Given the description of an element on the screen output the (x, y) to click on. 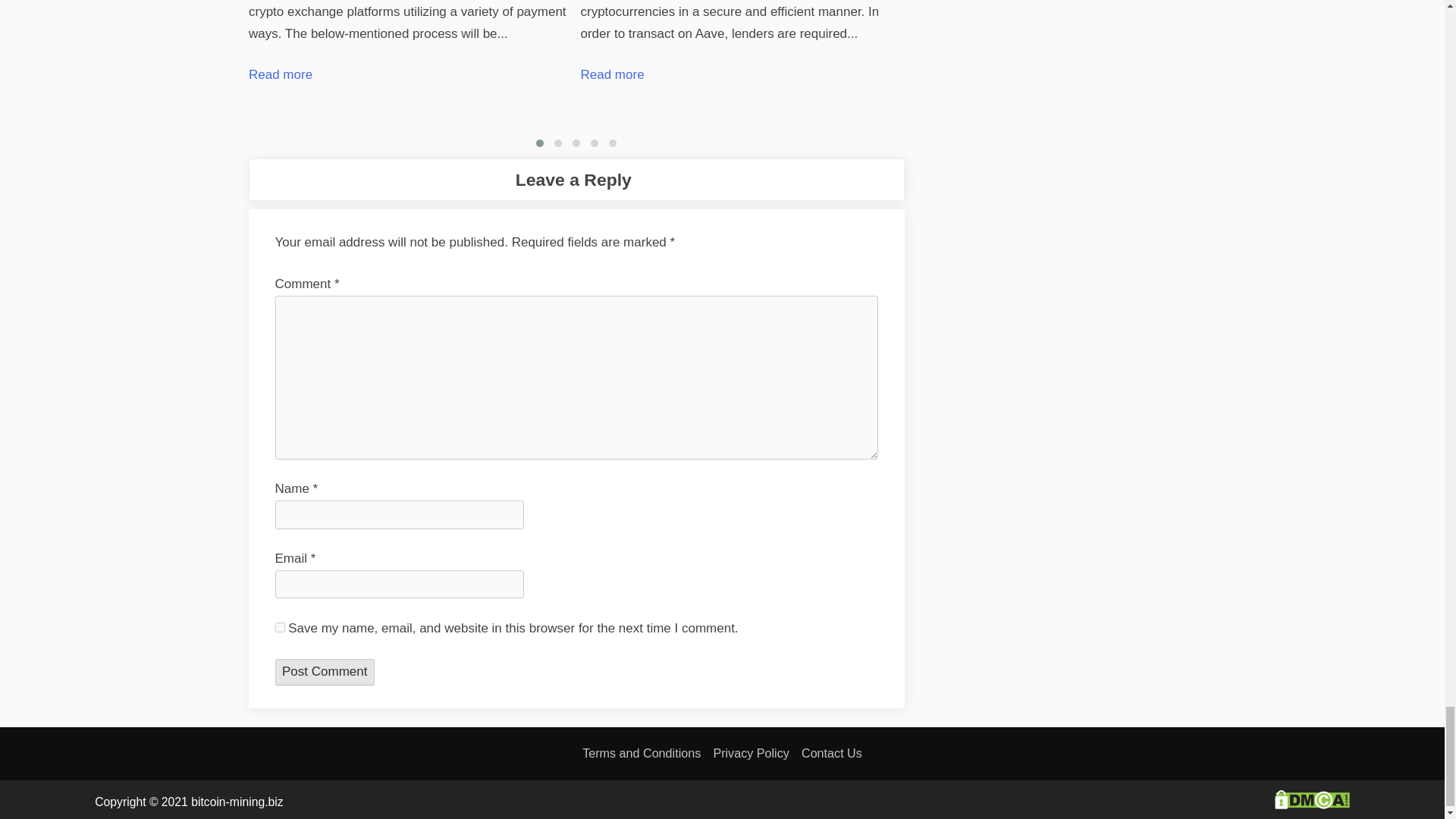
Post Comment (324, 671)
Read more (280, 74)
yes (279, 627)
